Given the description of an element on the screen output the (x, y) to click on. 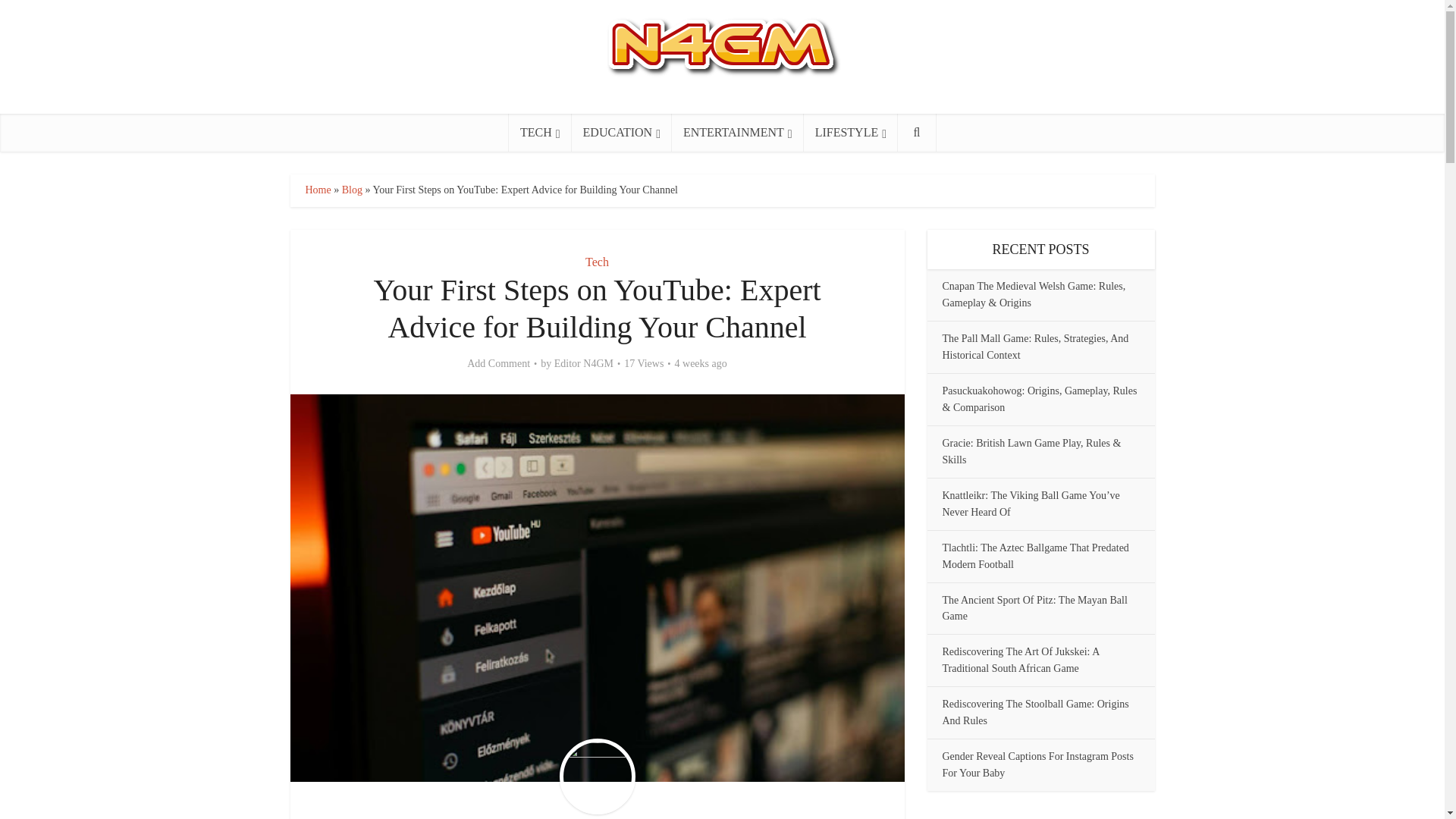
ENTERTAINMENT (737, 132)
LIFESTYLE (850, 132)
EDUCATION (621, 132)
TECH (540, 132)
